Given the description of an element on the screen output the (x, y) to click on. 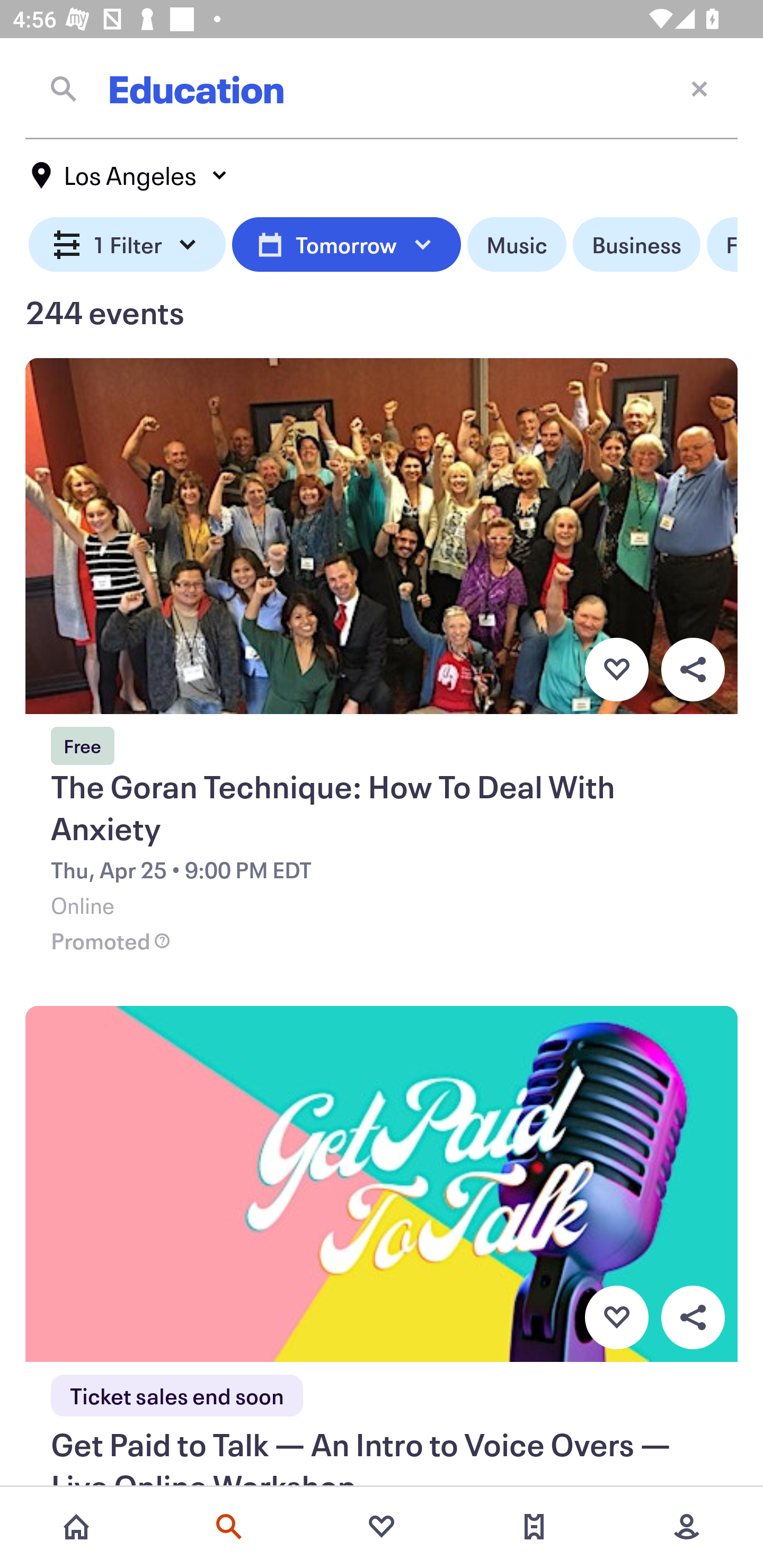
Education Close current screen (381, 88)
Close current screen (699, 88)
Los Angeles (130, 175)
1 Filter (126, 244)
Tomorrow (345, 244)
Music (516, 244)
Business (636, 244)
Favorite button (616, 669)
Overflow menu button (692, 669)
Favorite button (616, 1317)
Overflow menu button (692, 1317)
Home (76, 1526)
Search events (228, 1526)
Favorites (381, 1526)
Tickets (533, 1526)
More (686, 1526)
